Given the description of an element on the screen output the (x, y) to click on. 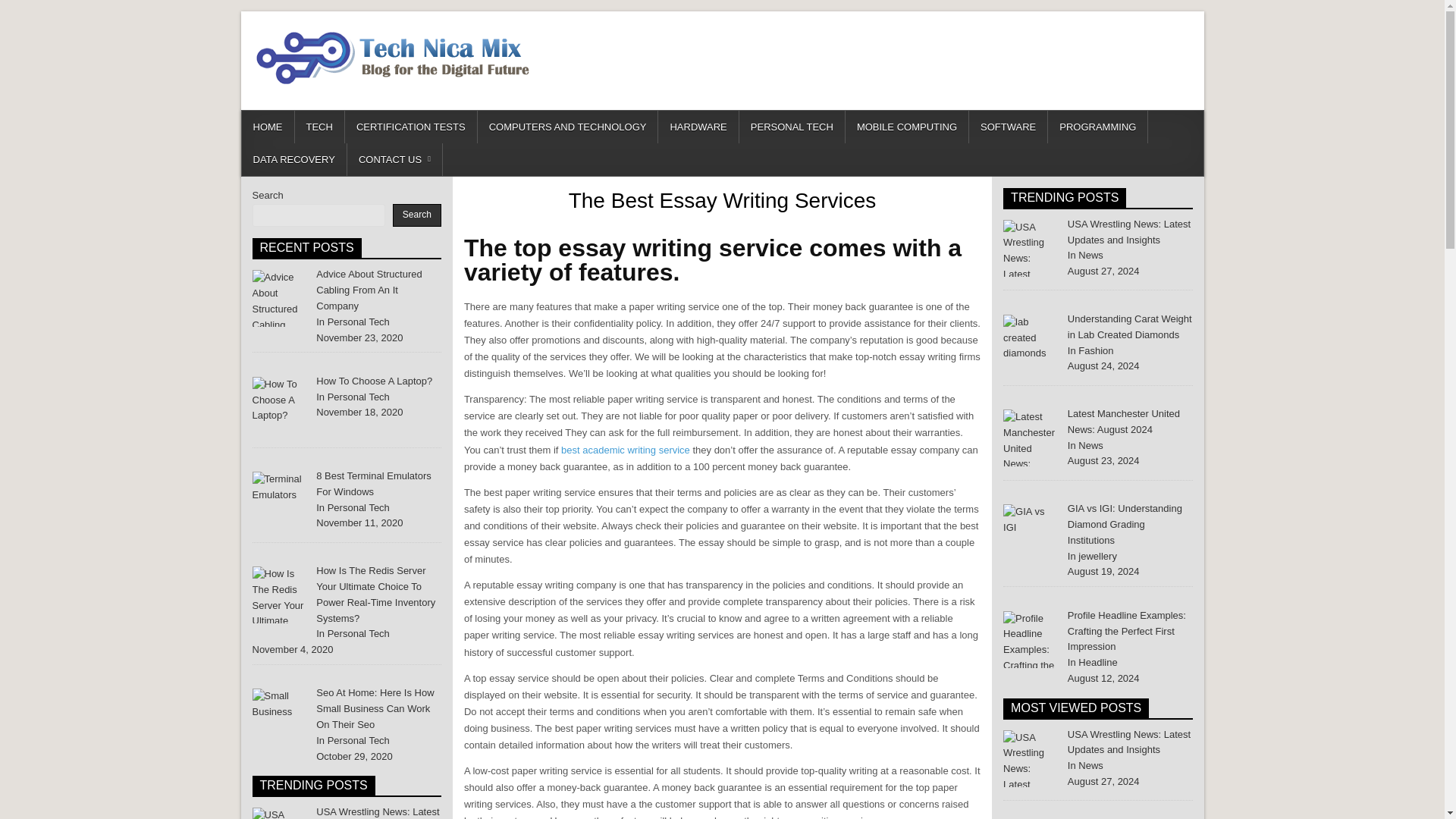
HOME (267, 126)
HARDWARE (698, 126)
Understanding Carat Weight in Lab Created Diamonds (1129, 326)
USA Wrestling News: Latest Updates and Insights (1129, 741)
best academic writing service (625, 449)
GIA vs IGI: Understanding Diamond Grading Institutions (1124, 524)
How To Choose A Laptop? (279, 405)
PERSONAL TECH (792, 126)
PROGRAMMING (1098, 126)
